Given the description of an element on the screen output the (x, y) to click on. 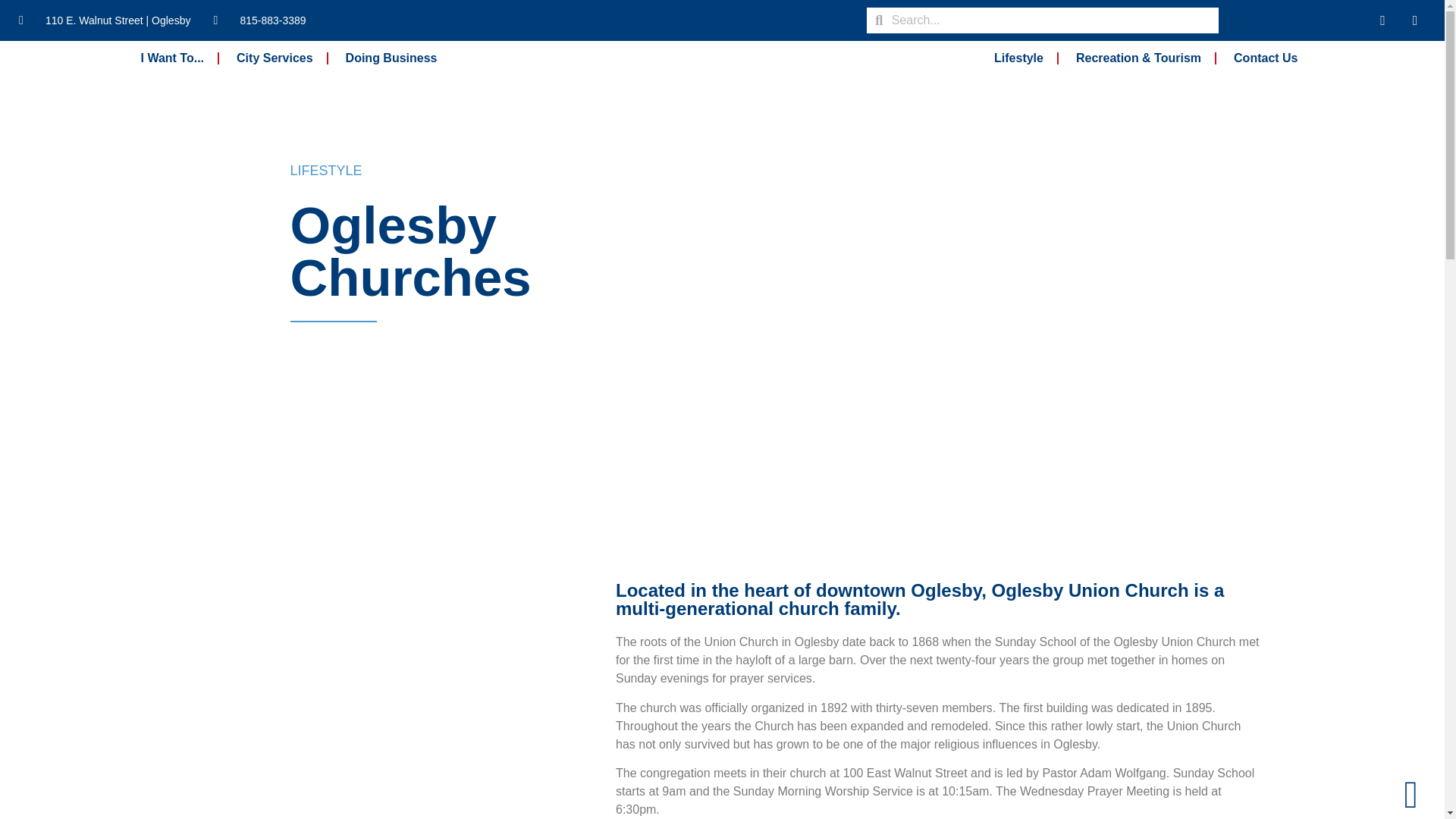
I Want To... (172, 58)
City Services (274, 58)
Doing Business (391, 58)
815-883-3389 (258, 19)
